Given the description of an element on the screen output the (x, y) to click on. 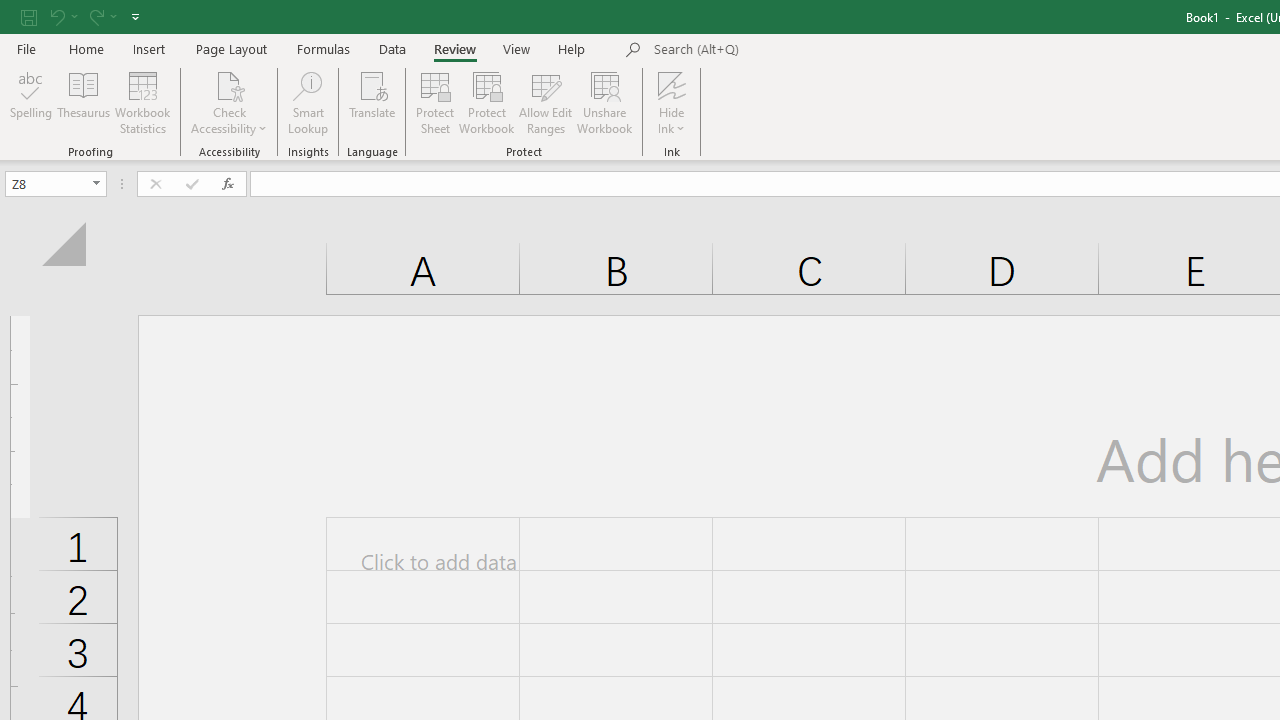
Microsoft search (792, 49)
Translate (372, 102)
Home (86, 48)
Save (29, 15)
Review (454, 48)
Quick Access Toolbar (82, 16)
Redo (102, 15)
System (10, 11)
Protect Sheet... (434, 102)
Unshare Workbook (604, 102)
Undo (56, 15)
Help (572, 48)
Hide Ink (671, 84)
Thesaurus... (83, 102)
Formulas (323, 48)
